Given the description of an element on the screen output the (x, y) to click on. 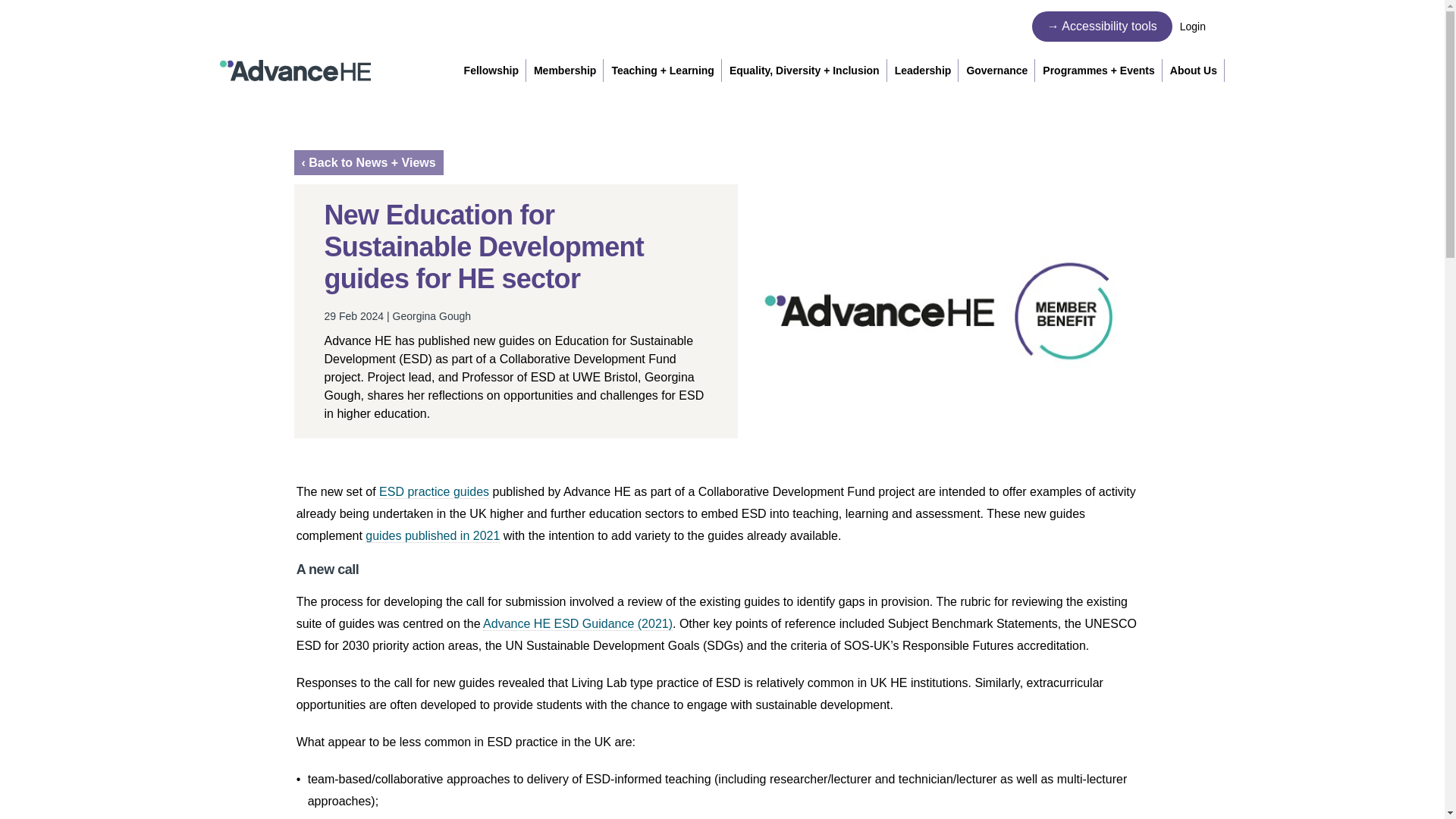
Click to activate accessibility tools (1102, 26)
Fellowship (491, 70)
Accessibility tools (1102, 26)
Membership (564, 70)
Login (1201, 26)
